Given the description of an element on the screen output the (x, y) to click on. 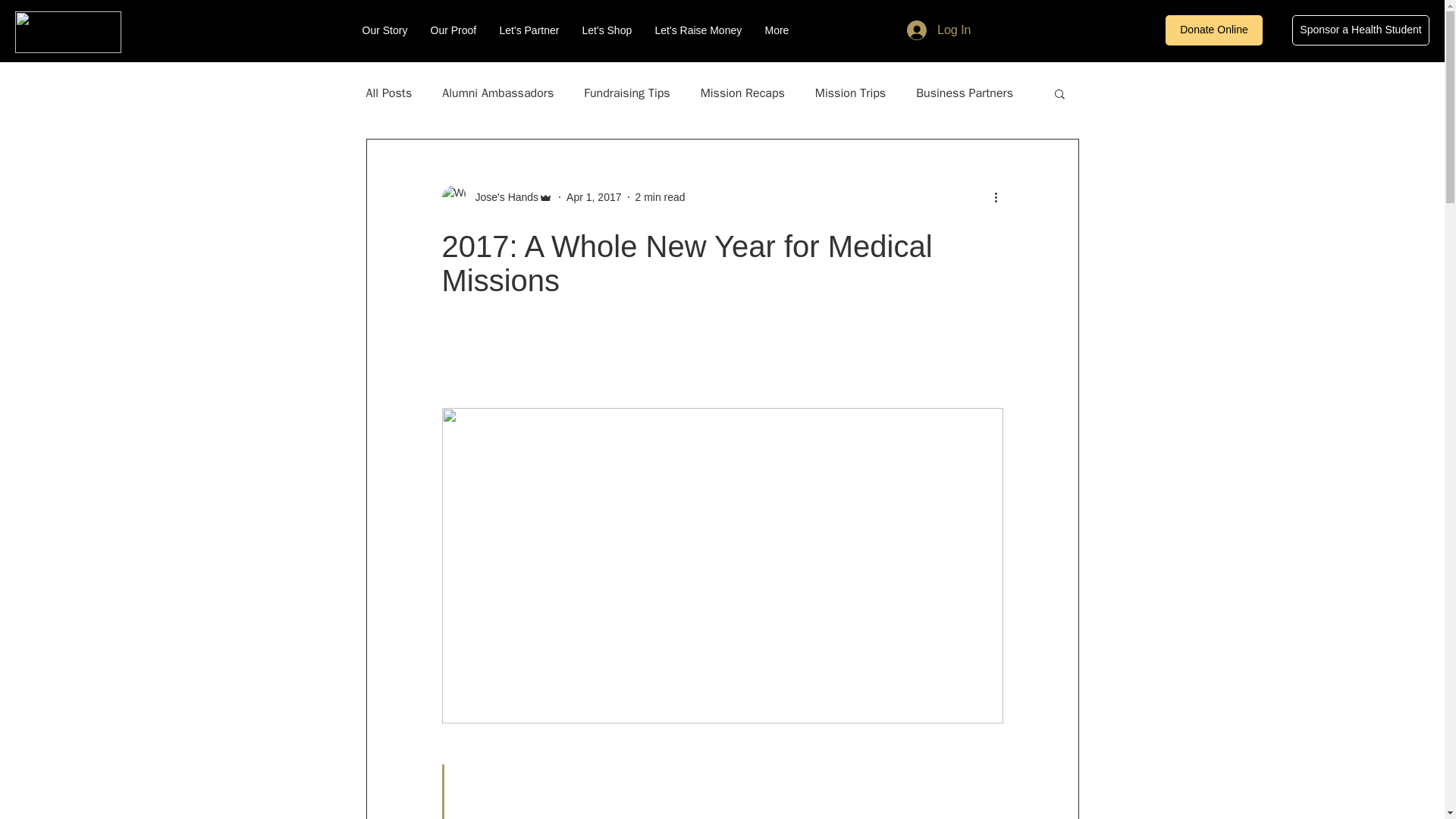
Log In (938, 30)
Sponsor a Health Student (1360, 30)
2 min read (659, 196)
Alumni Ambassadors (497, 92)
Mission Trips (850, 92)
Apr 1, 2017 (593, 196)
Mission Recaps (742, 92)
All Posts (388, 92)
Jose's Hands (497, 197)
Donate Online (1214, 30)
Business Partners (964, 92)
Fundraising Tips (626, 92)
Let's Shop (606, 30)
Our Proof (453, 30)
Jose's Hands (501, 197)
